Given the description of an element on the screen output the (x, y) to click on. 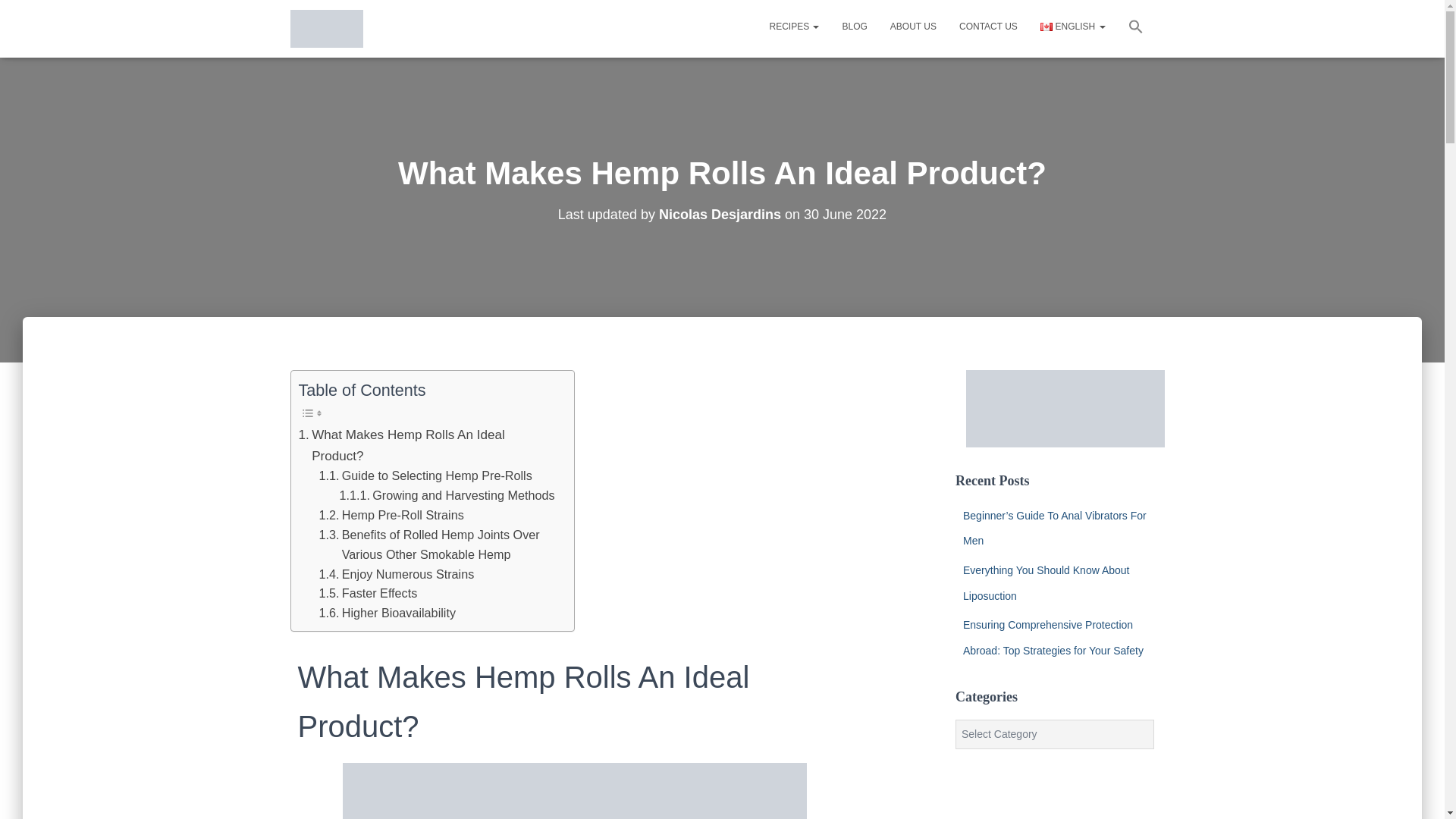
Fonsly (326, 28)
Higher Bioavailability (386, 613)
Blog (853, 26)
Enjoy Numerous Strains (396, 573)
Growing and Harvesting Methods (446, 496)
Hemp Pre-Roll Strains (390, 515)
What Makes Hemp Rolls An Ideal Product? (428, 445)
Guide to Selecting Hemp Pre-Rolls (424, 476)
Nicolas Desjardins (719, 214)
